Given the description of an element on the screen output the (x, y) to click on. 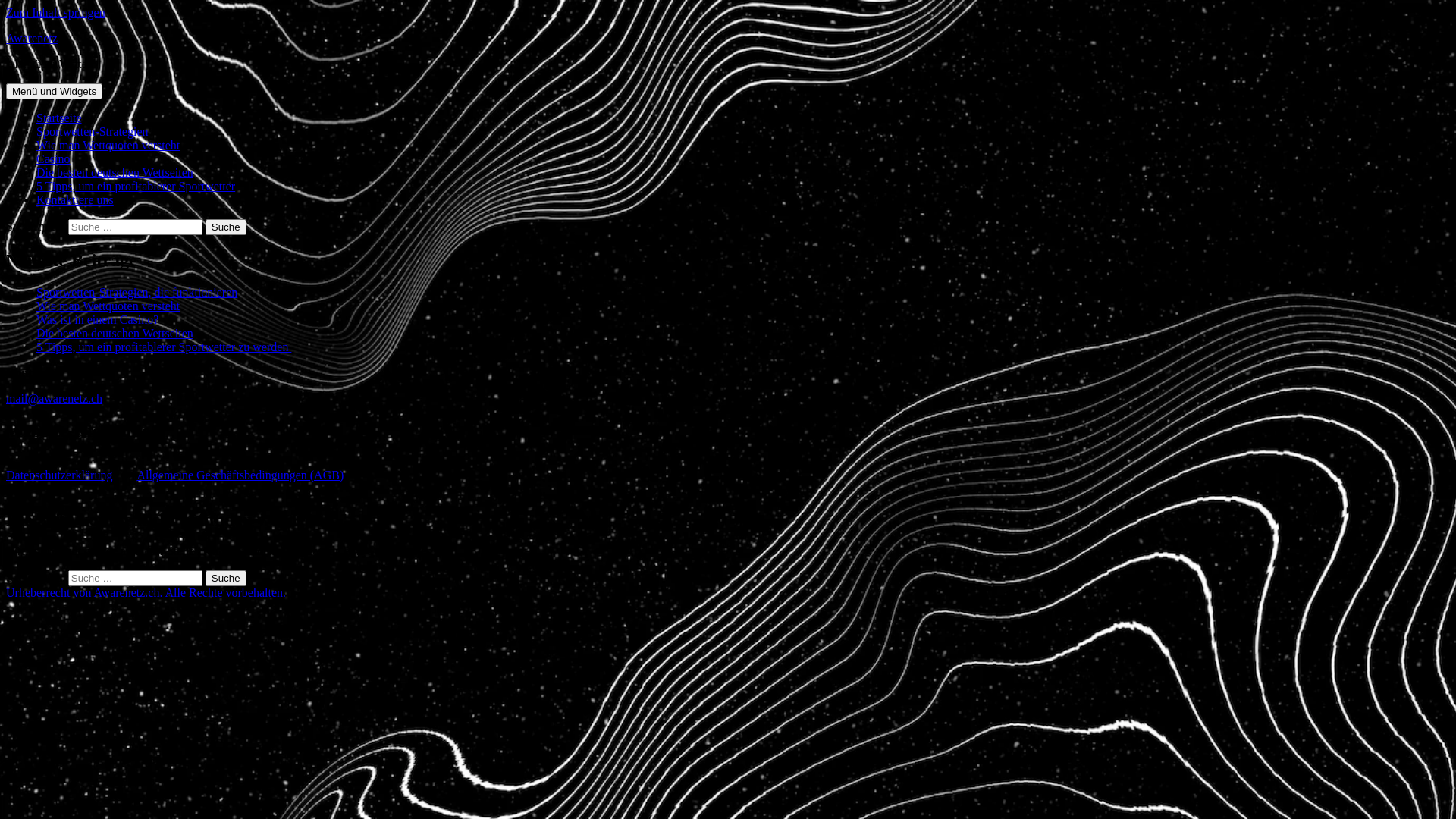
Wie man Wettquoten versteht Element type: text (107, 305)
Sportwetten-Strategien, die funktionieren Element type: text (136, 291)
Sportwetten-Strategien Element type: text (92, 131)
Zum Inhalt springen Element type: text (55, 12)
Suche Element type: text (225, 578)
5 Tipps, um ein profitablerer Sportwetter zu werden  Element type: text (163, 346)
Was ist in einem Casino? Element type: text (97, 319)
mail@awarenetz.ch Element type: text (54, 398)
Die besten deutschen Wettseiten Element type: text (114, 172)
Kontaktiere uns Element type: text (74, 199)
Awarenetz Element type: text (31, 37)
Casino Element type: text (52, 158)
5 Tipps, um ein profitablerer Sportwetter Element type: text (135, 185)
Urheberrecht von Awarenetz.ch. Alle Rechte vorbehalten. Element type: text (145, 592)
Wie man Wettquoten versteht Element type: text (107, 144)
Startseite Element type: text (58, 117)
Die besten deutschen Wettseiten Element type: text (114, 332)
Suche Element type: text (225, 227)
